Given the description of an element on the screen output the (x, y) to click on. 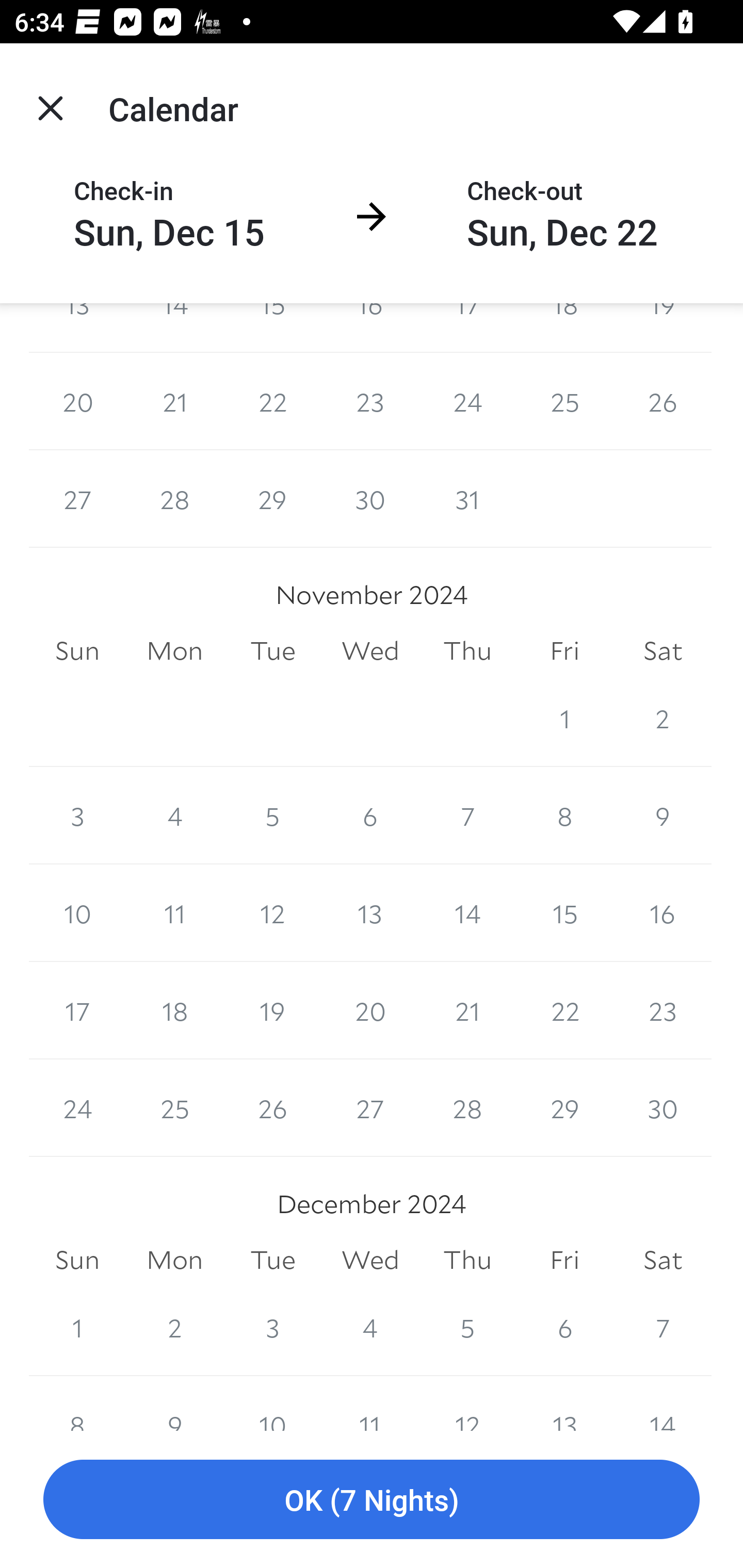
20 20 October 2024 (77, 401)
21 21 October 2024 (174, 401)
22 22 October 2024 (272, 401)
23 23 October 2024 (370, 401)
24 24 October 2024 (467, 401)
25 25 October 2024 (564, 401)
26 26 October 2024 (662, 401)
27 27 October 2024 (77, 498)
28 28 October 2024 (174, 498)
29 29 October 2024 (272, 498)
30 30 October 2024 (370, 498)
31 31 October 2024 (467, 498)
Sun (77, 650)
Mon (174, 650)
Tue (272, 650)
Wed (370, 650)
Thu (467, 650)
Fri (564, 650)
Sat (662, 650)
1 1 November 2024 (564, 717)
2 2 November 2024 (662, 717)
3 3 November 2024 (77, 814)
4 4 November 2024 (174, 814)
5 5 November 2024 (272, 814)
6 6 November 2024 (370, 814)
7 7 November 2024 (467, 814)
8 8 November 2024 (564, 814)
9 9 November 2024 (662, 814)
10 10 November 2024 (77, 912)
11 11 November 2024 (174, 912)
12 12 November 2024 (272, 912)
13 13 November 2024 (370, 912)
14 14 November 2024 (467, 912)
15 15 November 2024 (564, 912)
16 16 November 2024 (662, 912)
17 17 November 2024 (77, 1010)
18 18 November 2024 (174, 1010)
19 19 November 2024 (272, 1010)
20 20 November 2024 (370, 1010)
21 21 November 2024 (467, 1010)
22 22 November 2024 (564, 1010)
23 23 November 2024 (662, 1010)
24 24 November 2024 (77, 1108)
25 25 November 2024 (174, 1108)
26 26 November 2024 (272, 1108)
27 27 November 2024 (370, 1108)
28 28 November 2024 (467, 1108)
29 29 November 2024 (564, 1108)
30 30 November 2024 (662, 1108)
